Given the description of an element on the screen output the (x, y) to click on. 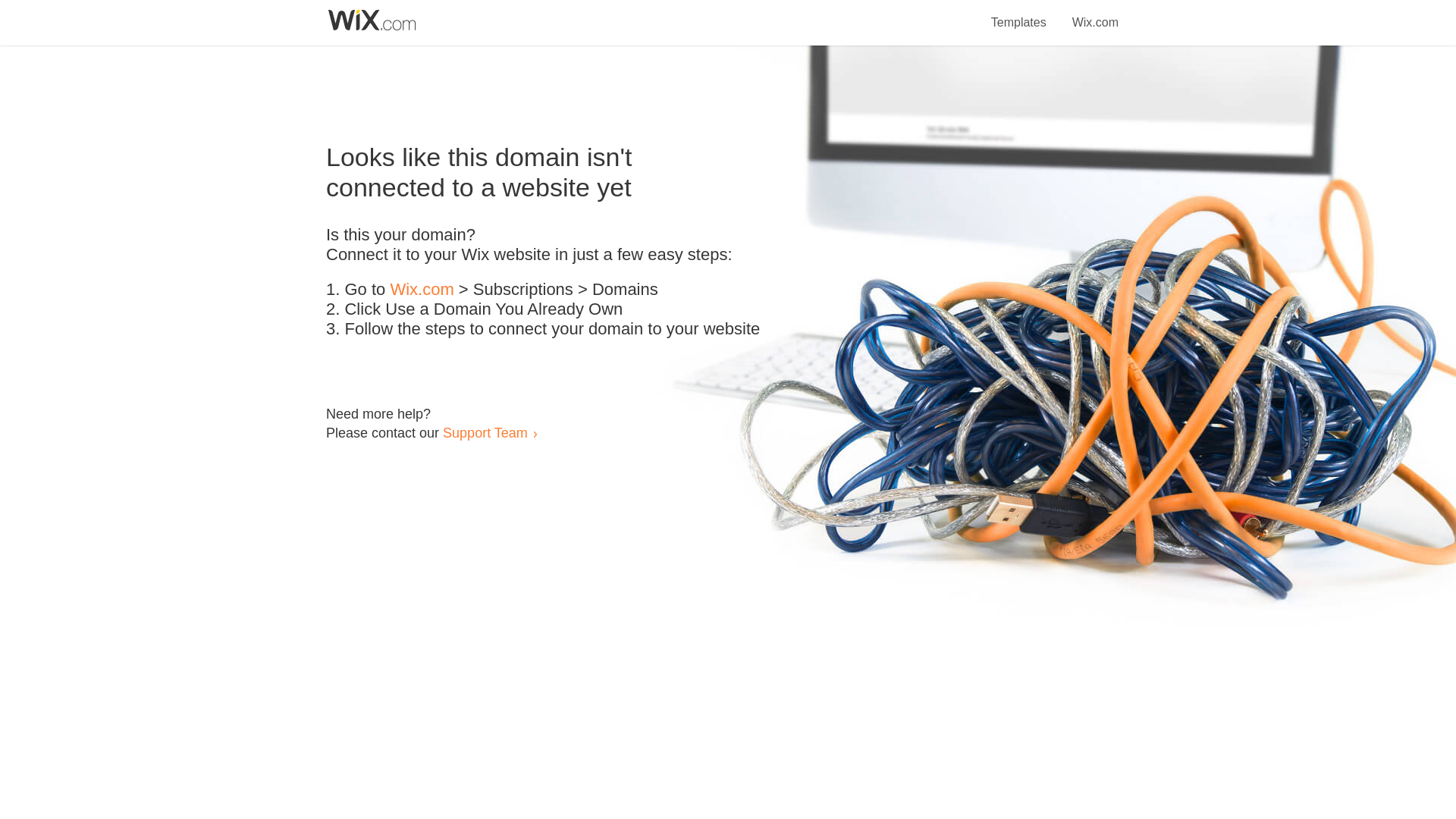
Wix.com (1095, 14)
Support Team (484, 432)
Templates (1018, 14)
Wix.com (421, 289)
